Given the description of an element on the screen output the (x, y) to click on. 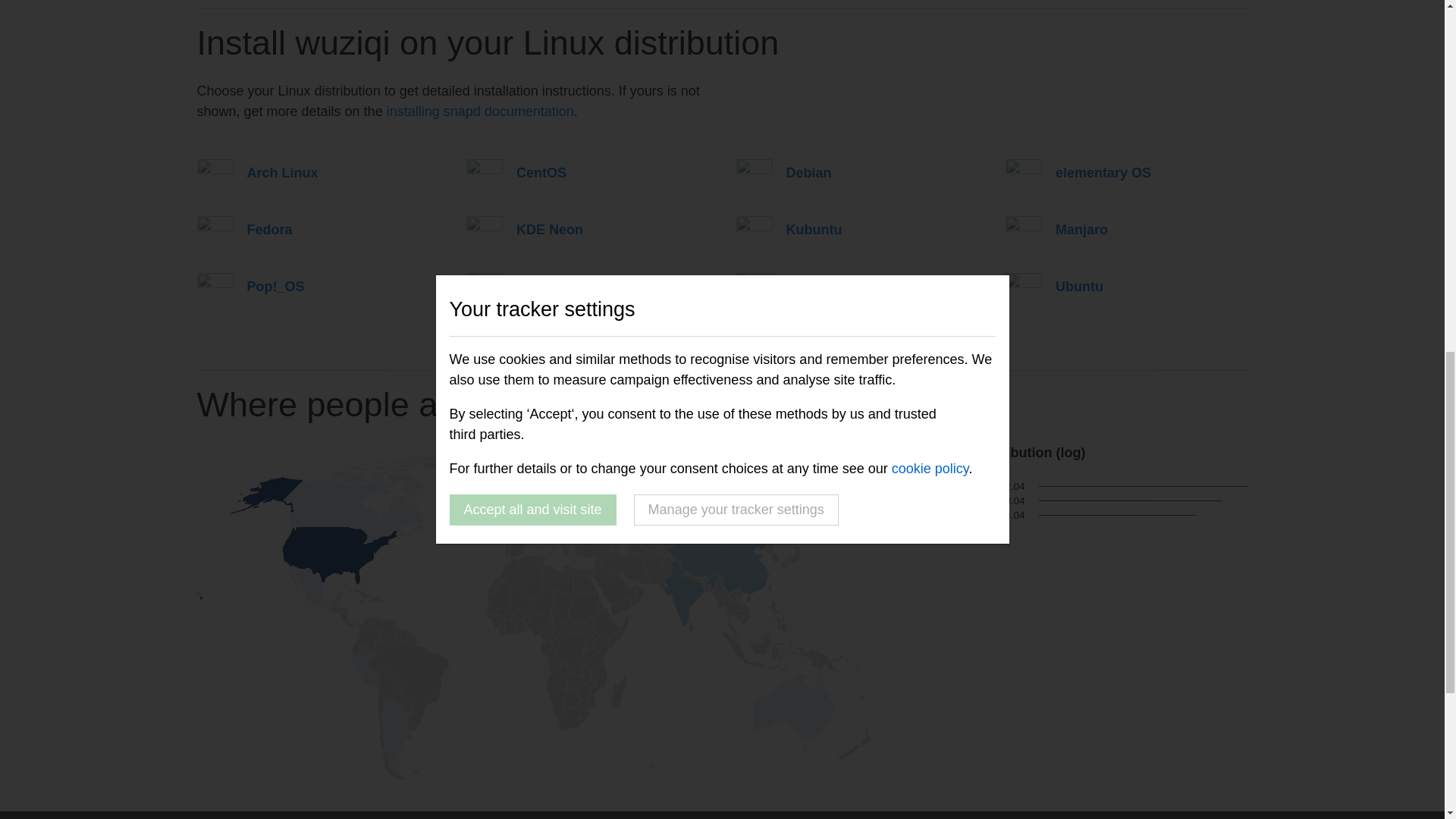
Ubuntu 18.04 (970, 500)
Ubuntu 24.04 (970, 515)
Ubuntu 22.04 (970, 486)
